Given the description of an element on the screen output the (x, y) to click on. 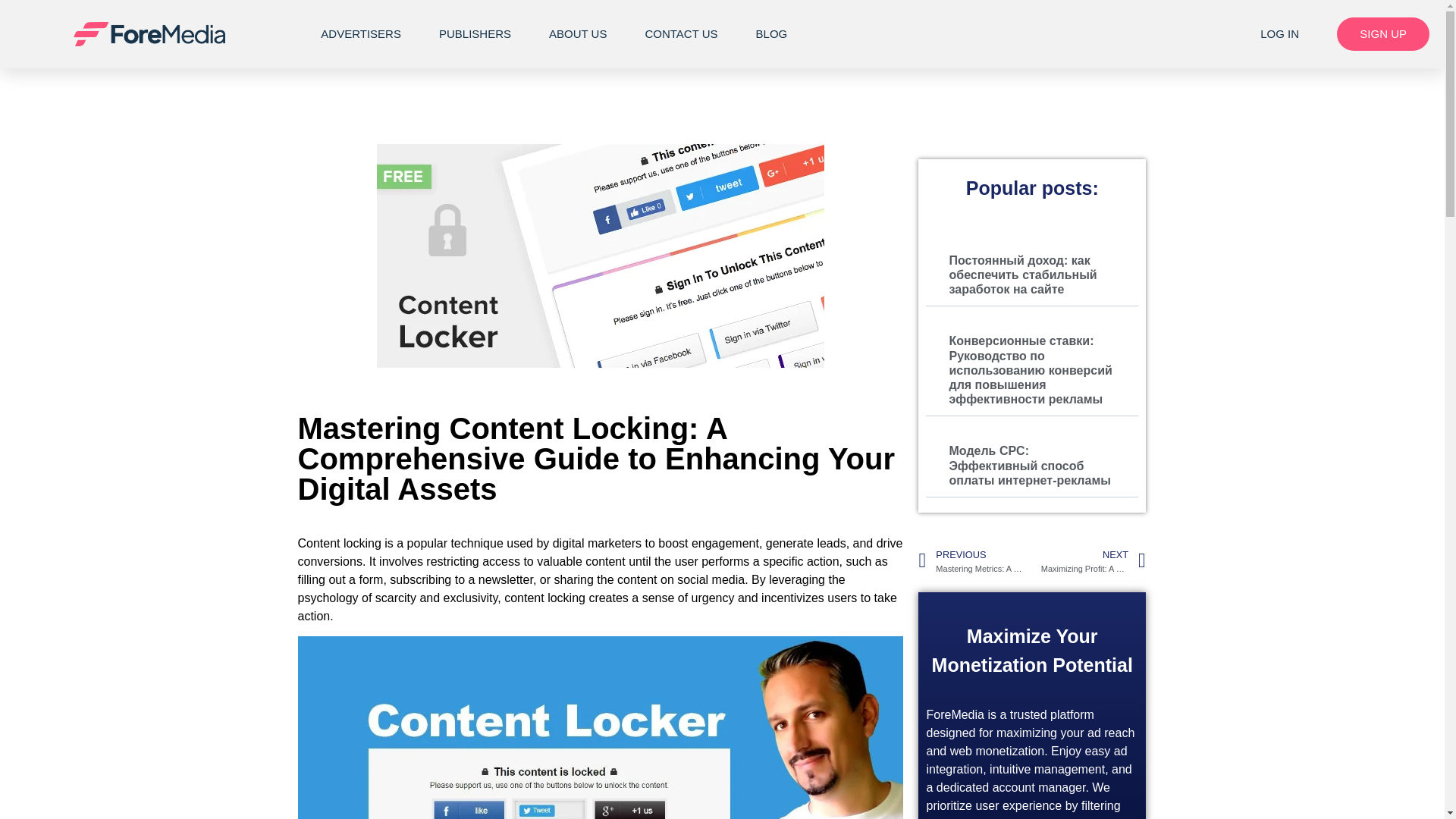
PUBLISHERS (475, 33)
SIGN UP (1382, 33)
LOG IN (1279, 33)
ADVERTISERS (360, 33)
CONTACT US (681, 33)
